Given the description of an element on the screen output the (x, y) to click on. 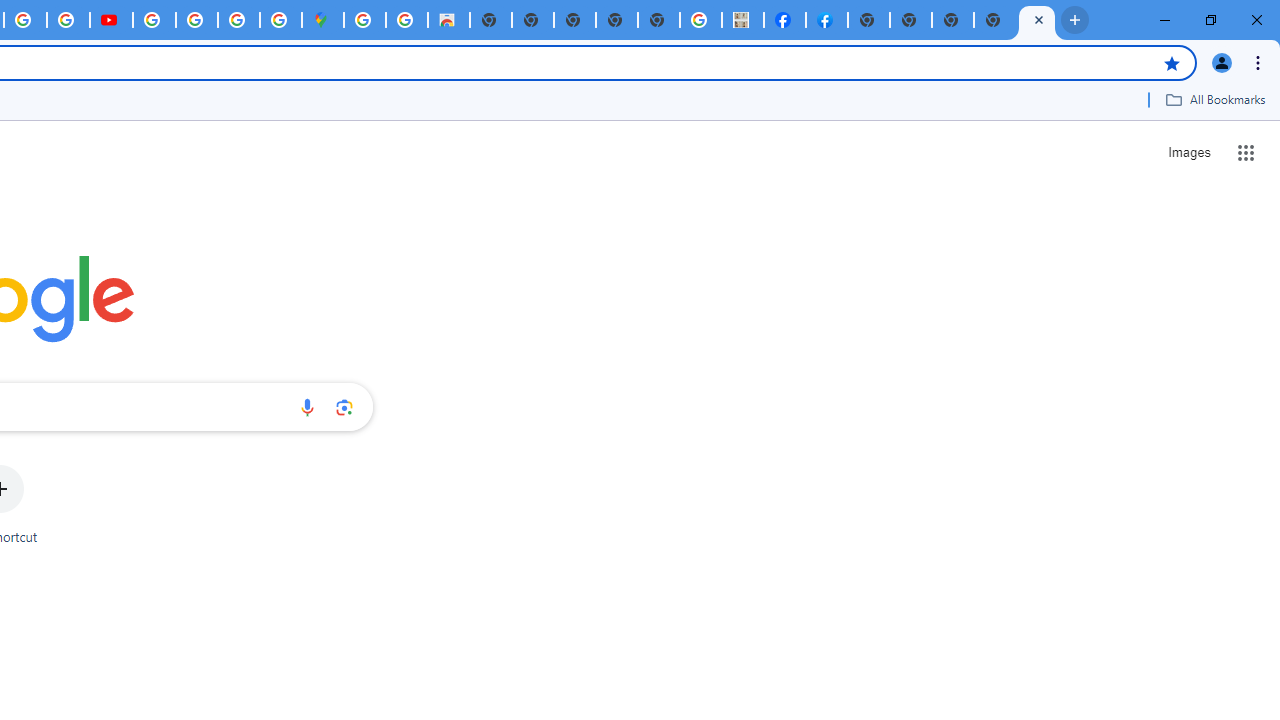
New Tab (868, 20)
Miley Cyrus | Facebook (785, 20)
Google Maps (323, 20)
Subscriptions - YouTube (111, 20)
Chrome Web Store - Shopping (448, 20)
